Given the description of an element on the screen output the (x, y) to click on. 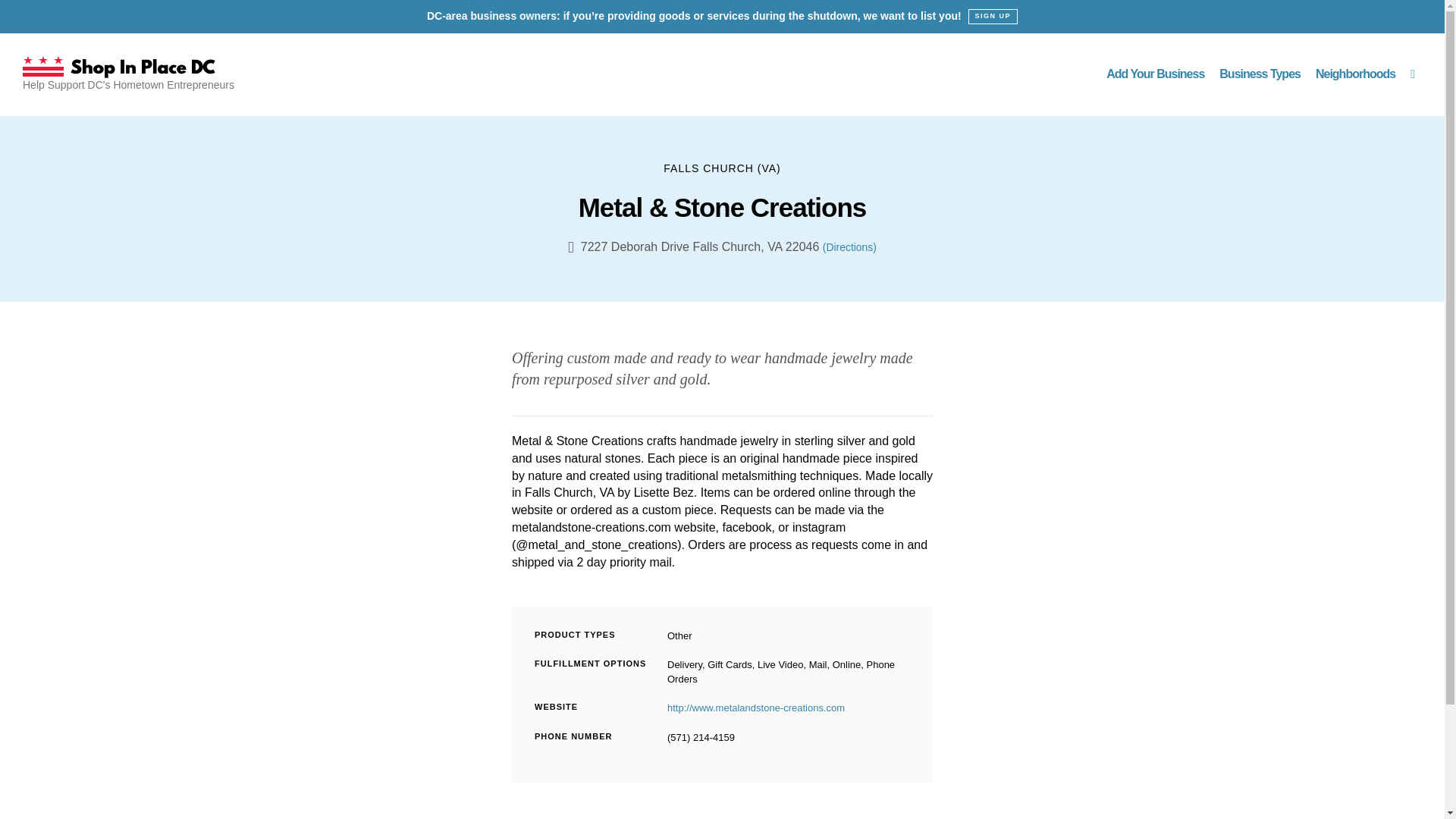
Add Your Business (1155, 74)
Neighborhoods (1355, 74)
Business Types (1259, 74)
SIGN UP (992, 16)
Help Support DC's Hometown Entrepreneurs (561, 76)
